Given the description of an element on the screen output the (x, y) to click on. 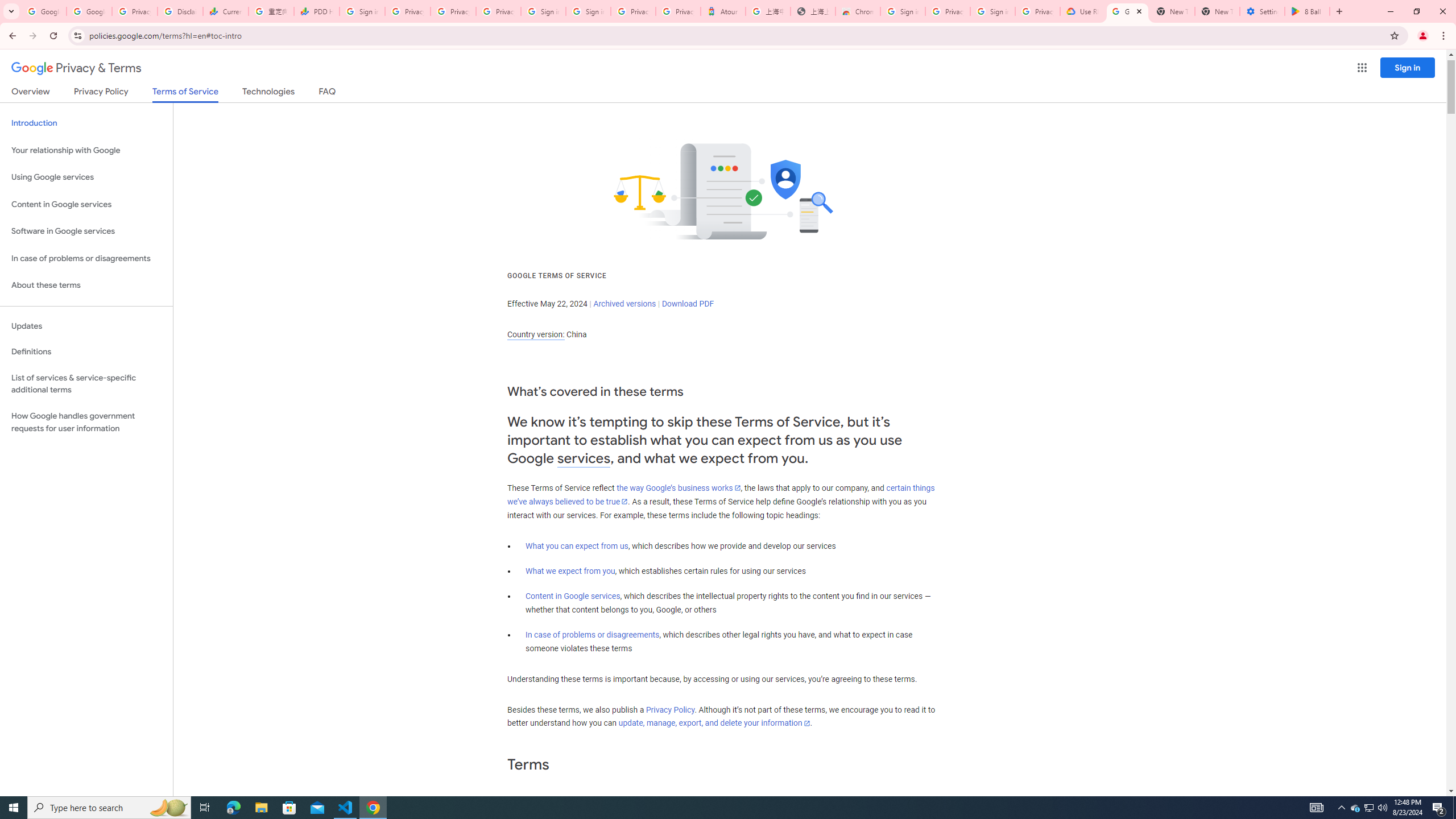
Visual Studio Code (32, 335)
CloudCompare (163, 102)
2311.03658v2.pdf (1210, 254)
Xftp 7 (98, 405)
2406.12373v2.pdf (1340, 254)
